Given the description of an element on the screen output the (x, y) to click on. 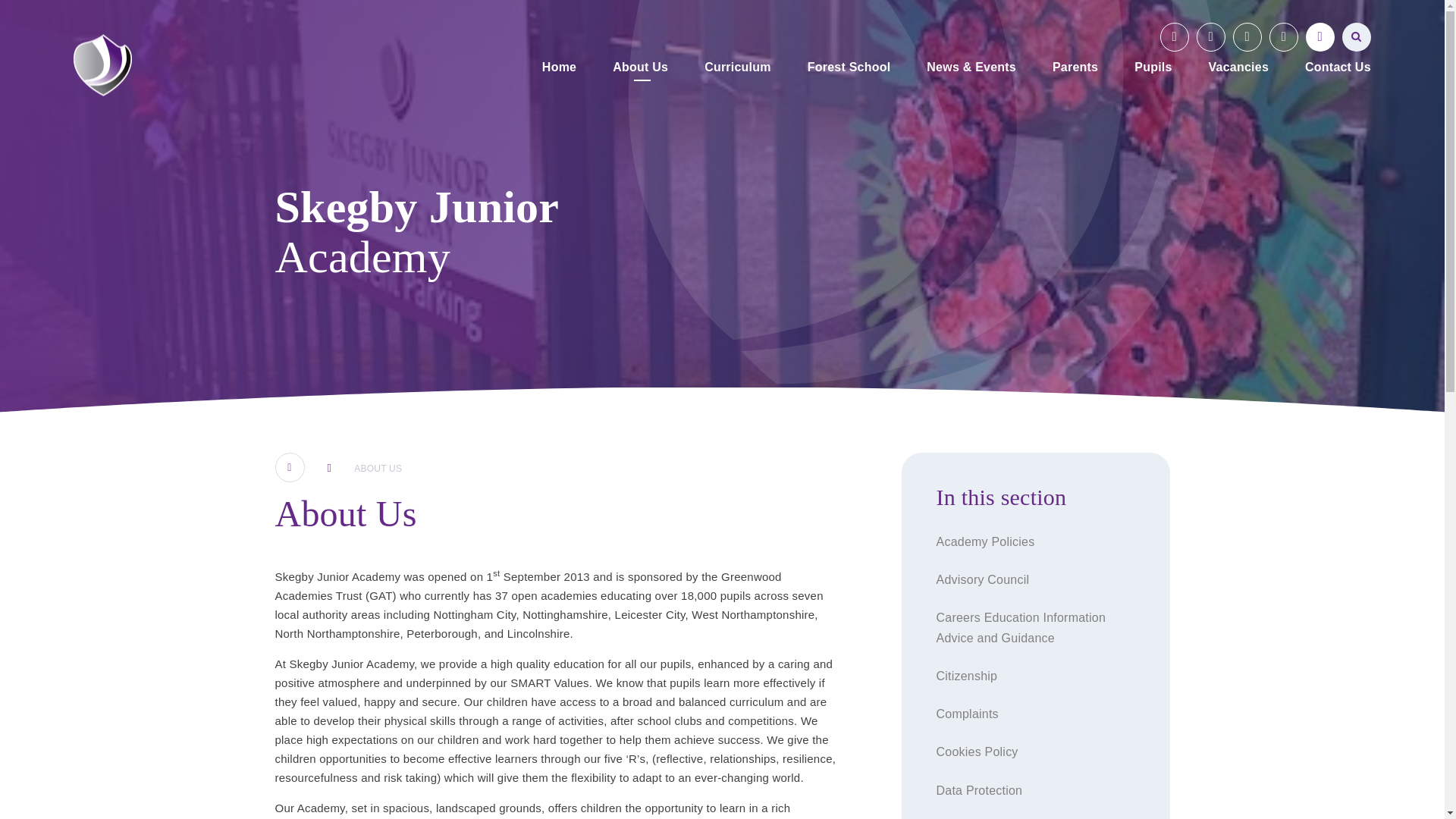
Skegby Junior Academy  (103, 64)
Twitter (1247, 36)
search... (1356, 36)
About Us (640, 67)
Facebook (1210, 36)
Home (558, 67)
Search... (1356, 36)
Search... (1356, 36)
YouTube (1174, 36)
